Given the description of an element on the screen output the (x, y) to click on. 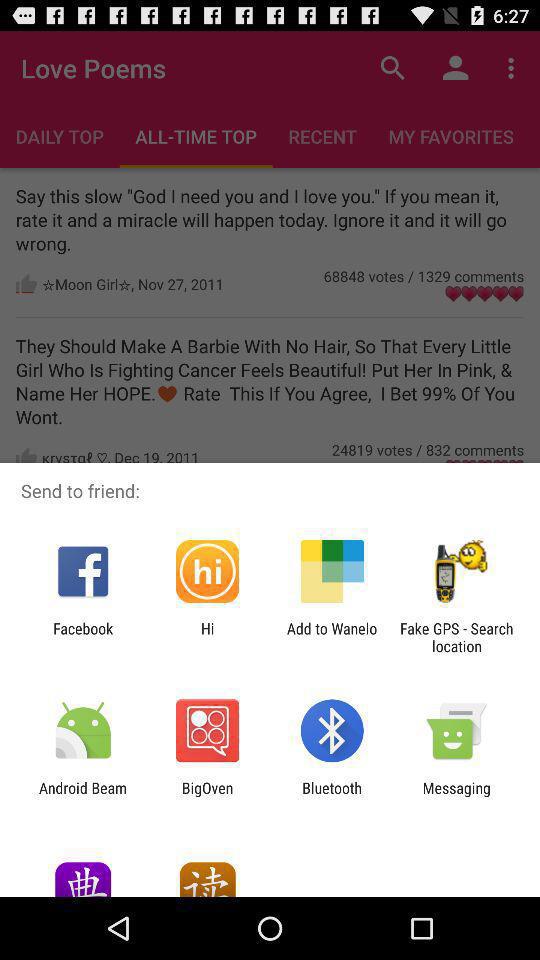
click the item to the right of the bigoven (331, 796)
